Given the description of an element on the screen output the (x, y) to click on. 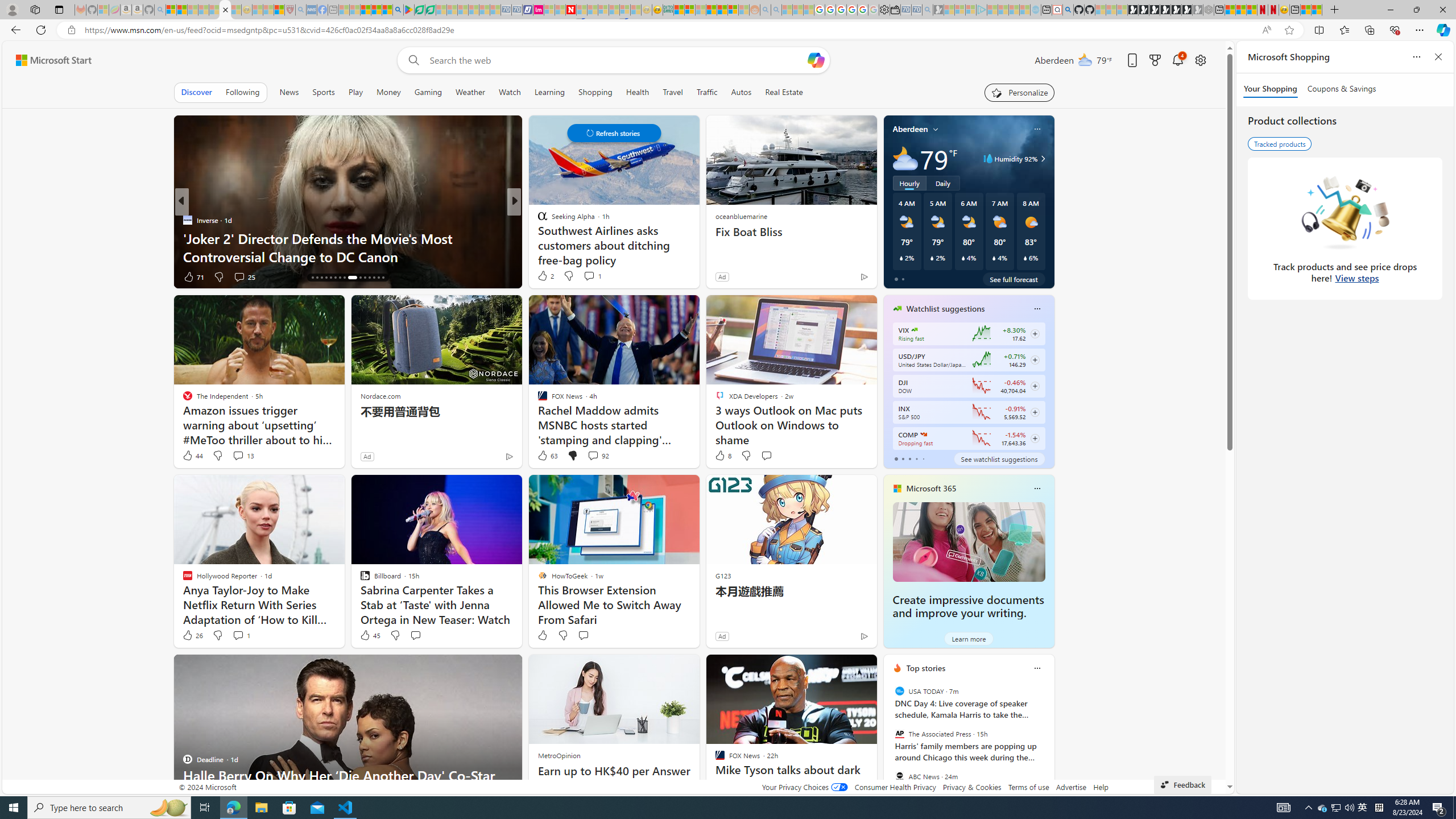
8 Like (722, 455)
Discover (195, 92)
Aberdeen (910, 128)
tab-2 (908, 458)
Mostly cloudy (904, 158)
Mostly cloudy (904, 158)
Utah sues federal government - Search - Sleeping (775, 9)
G123 (722, 574)
Wallet (895, 9)
AutomationID: tab-22 (339, 277)
Pets - MSN (376, 9)
Shopping (594, 92)
